Given the description of an element on the screen output the (x, y) to click on. 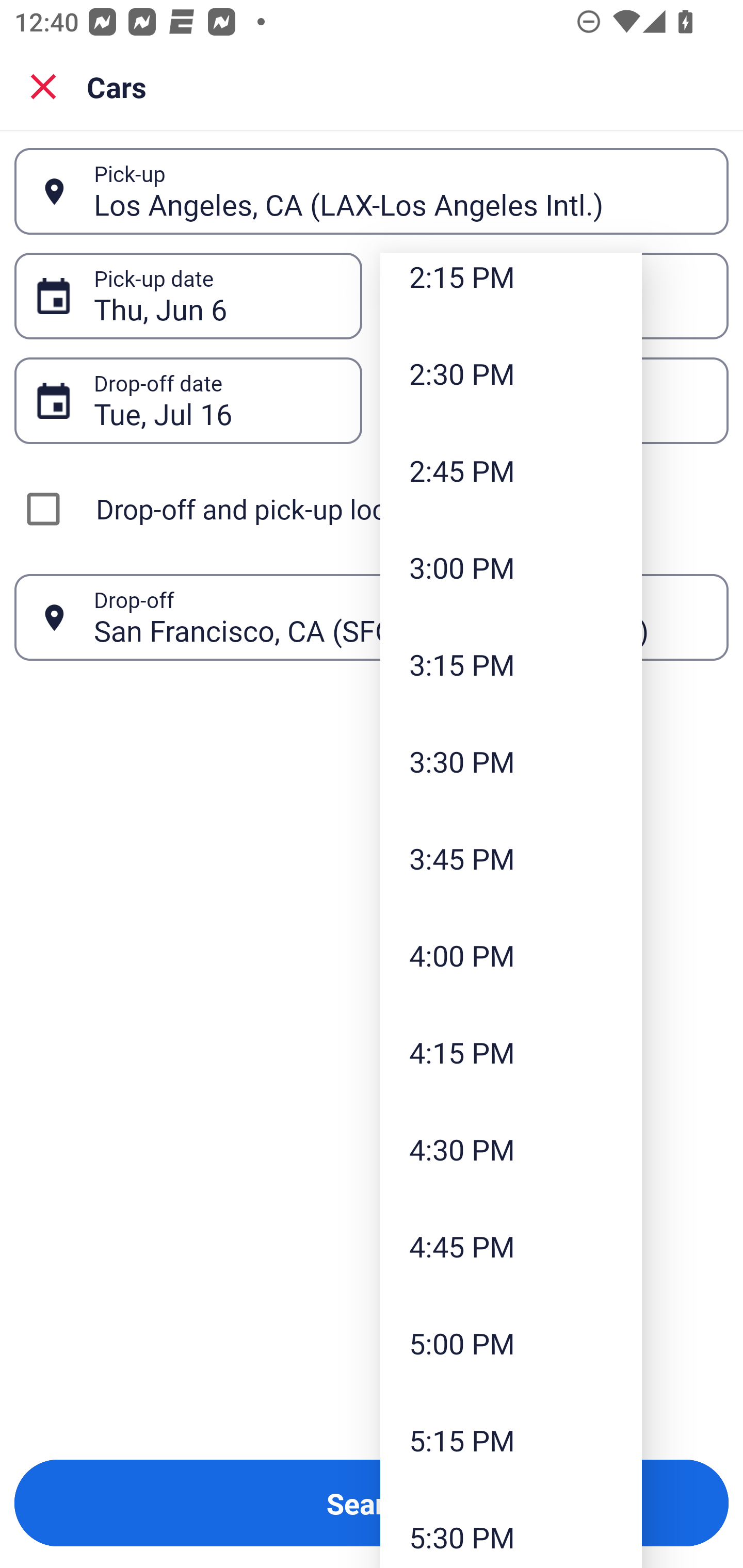
2:15 PM (510, 288)
2:30 PM (510, 372)
2:45 PM (510, 470)
3:00 PM (510, 567)
3:15 PM (510, 664)
3:30 PM (510, 761)
3:45 PM (510, 857)
4:00 PM (510, 954)
4:15 PM (510, 1051)
4:30 PM (510, 1148)
4:45 PM (510, 1246)
5:00 PM (510, 1343)
5:15 PM (510, 1440)
5:30 PM (510, 1528)
